Given the description of an element on the screen output the (x, y) to click on. 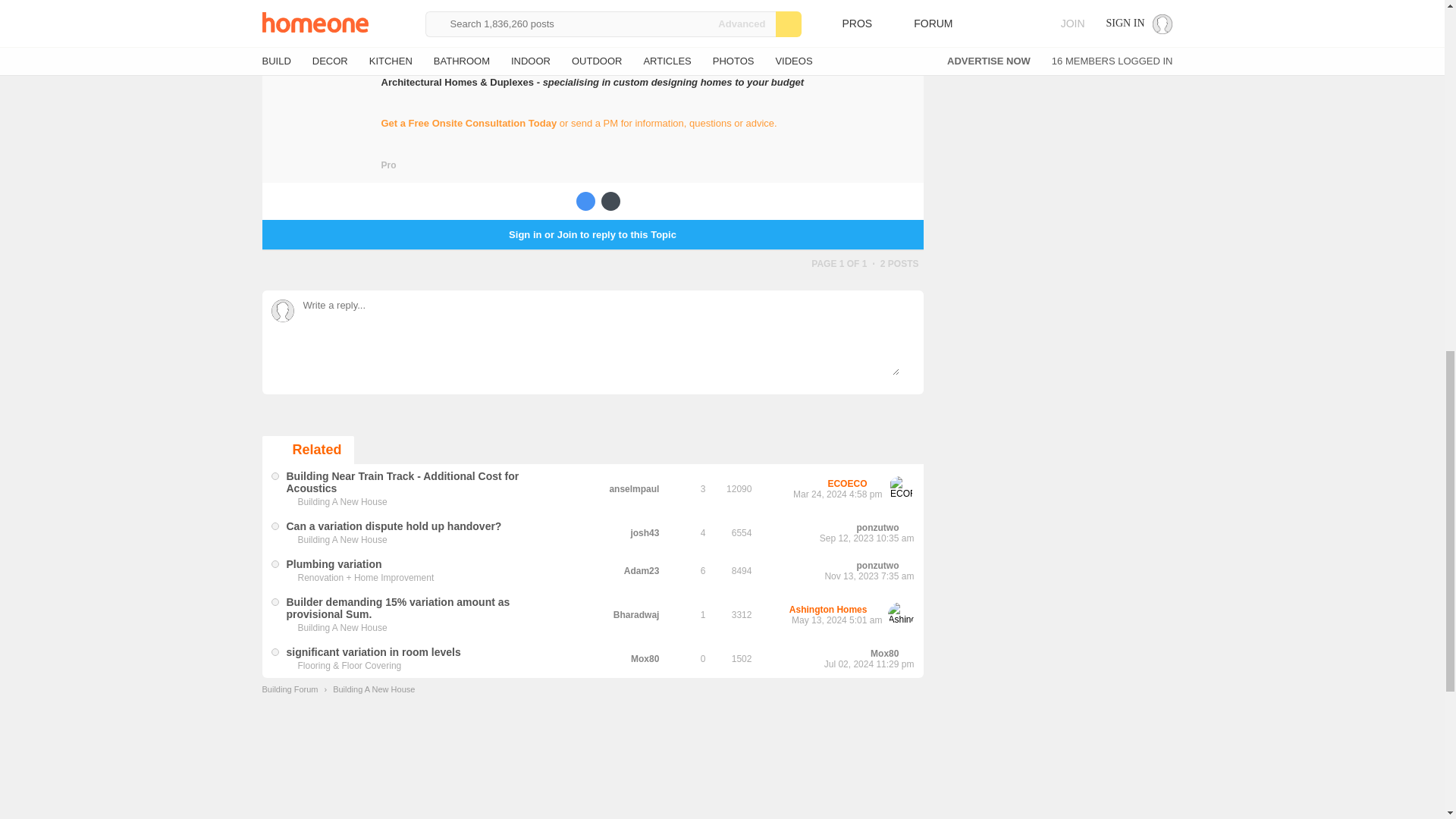
Posted: Mar 20, 2024 4:51 pm (402, 482)
View the latest post (876, 483)
View the latest post (908, 528)
Posted: Sep 11, 2023 10:29 am (394, 526)
Posted: Nov 09, 2023 12:11 pm (333, 563)
